Given the description of an element on the screen output the (x, y) to click on. 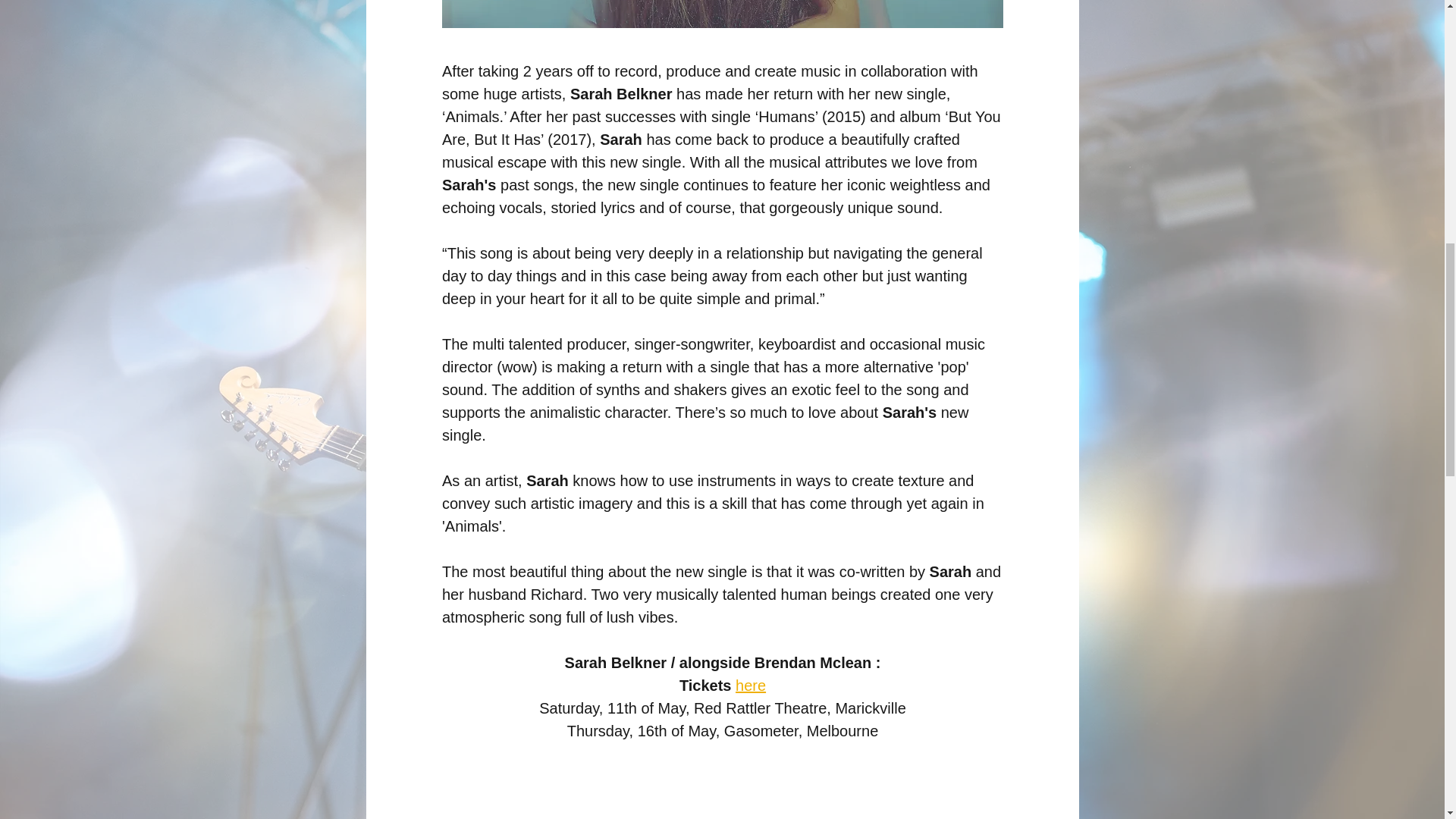
ricos-video (722, 804)
here (750, 685)
